Given the description of an element on the screen output the (x, y) to click on. 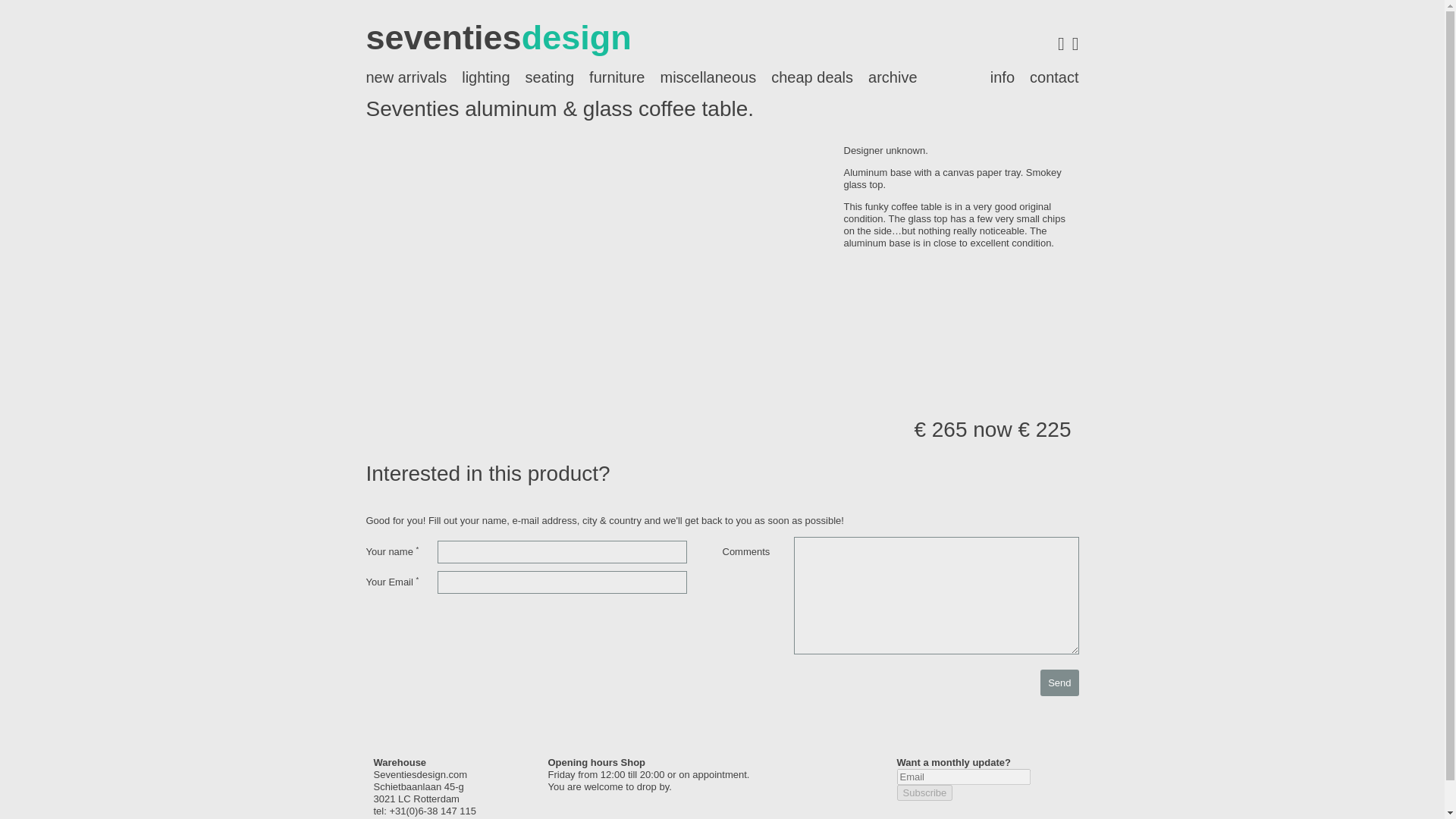
contact (1054, 76)
New (406, 76)
new arrivals (406, 76)
Subscribe (924, 792)
Lighting (485, 76)
info (1002, 76)
cheap deals (811, 76)
lighting (485, 76)
Seating (550, 76)
Archive (892, 76)
seating (550, 76)
Send (1059, 682)
archive (892, 76)
miscellaneous (707, 76)
furniture (616, 76)
